Given the description of an element on the screen output the (x, y) to click on. 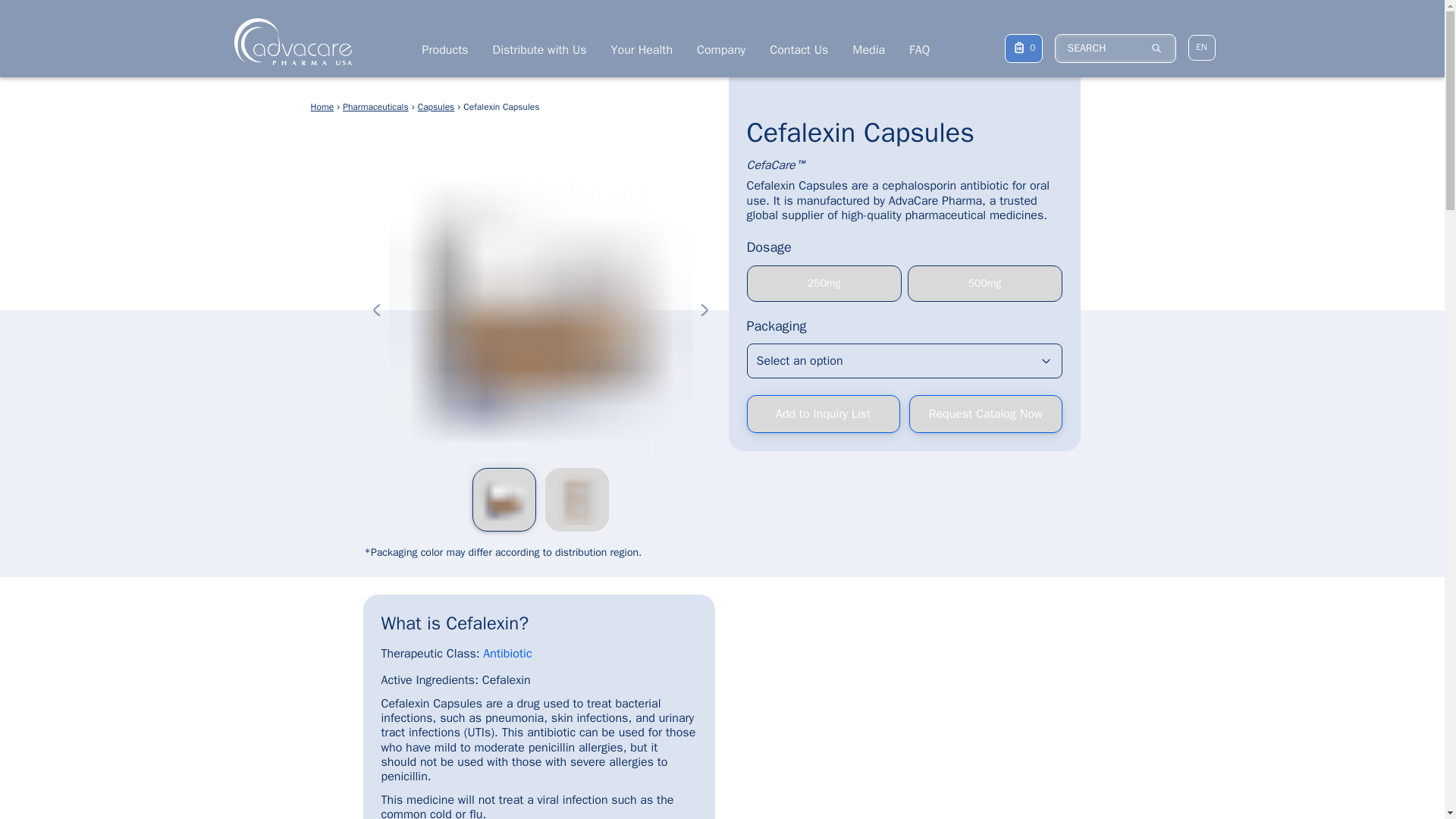
250mg (823, 283)
EN (1201, 47)
Distribute with Us (539, 49)
Add to Inquiry List (822, 413)
Company (721, 49)
500mg (984, 283)
Request Catalog Now (984, 413)
Contact Us (799, 49)
Capsules (435, 107)
